Given the description of an element on the screen output the (x, y) to click on. 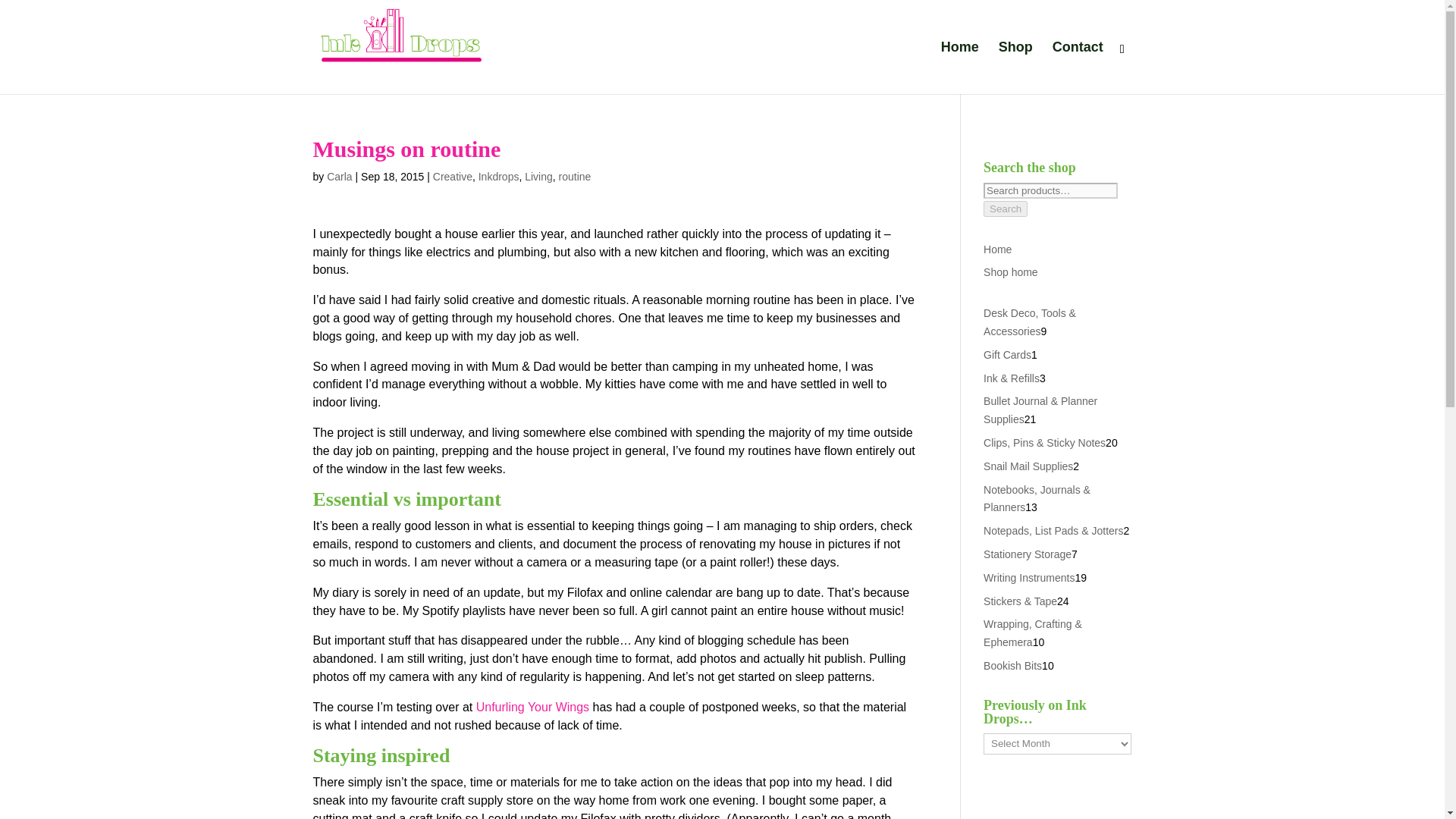
Contact (1077, 67)
Writing Instruments (1029, 577)
Posts by Carla (339, 176)
routine (575, 176)
Snail Mail Supplies (1028, 466)
Carla (339, 176)
Shop home (1011, 272)
Search (1005, 208)
Stationery Storage (1027, 553)
Unfurling Your Wings (532, 707)
